Given the description of an element on the screen output the (x, y) to click on. 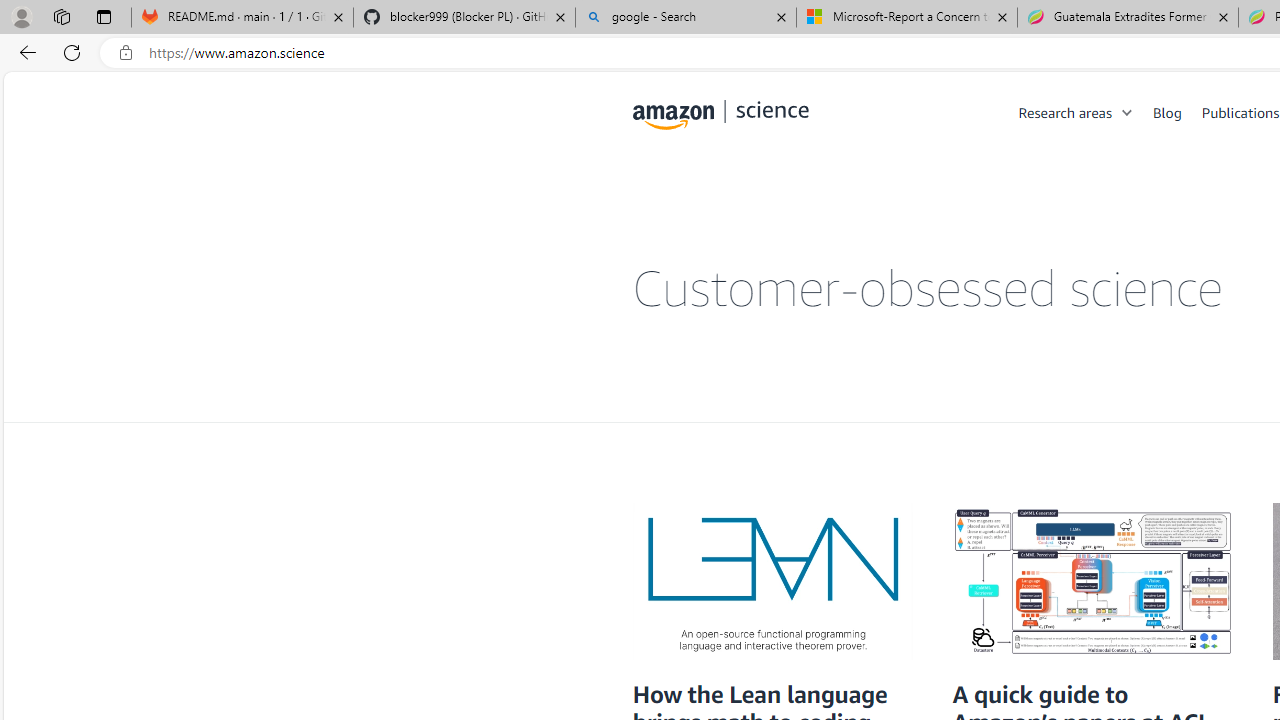
Class: chevron (1128, 116)
Open Sub Navigation (1128, 111)
Research areas (1065, 111)
Class: icon-magnify (654, 192)
LEAN logo.png (772, 581)
